Given the description of an element on the screen output the (x, y) to click on. 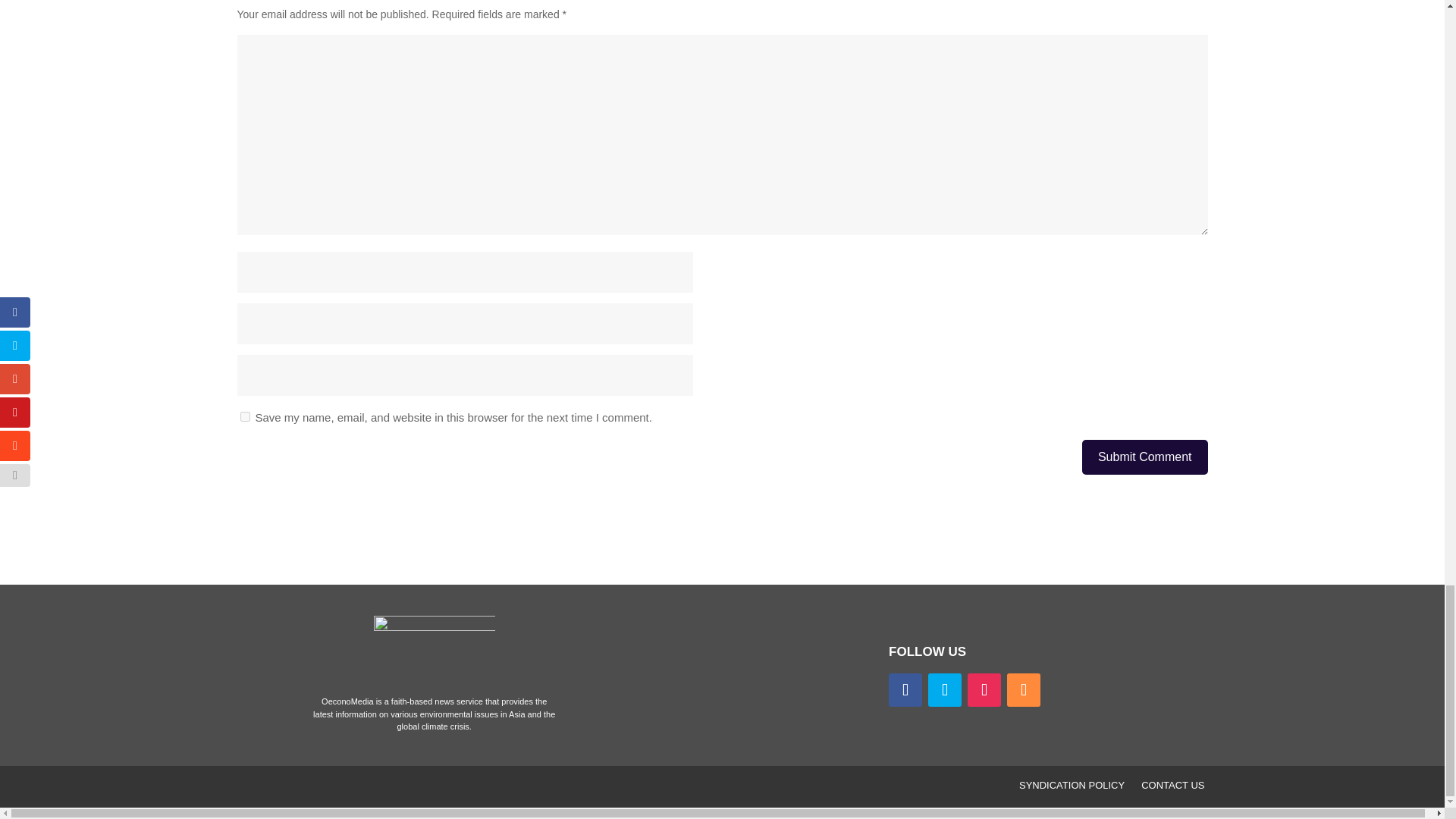
yes (244, 416)
Follow on RSS (1024, 689)
Follow on Facebook (904, 689)
Follow on Instagram (984, 689)
Follow on Twitter (944, 689)
